Given the description of an element on the screen output the (x, y) to click on. 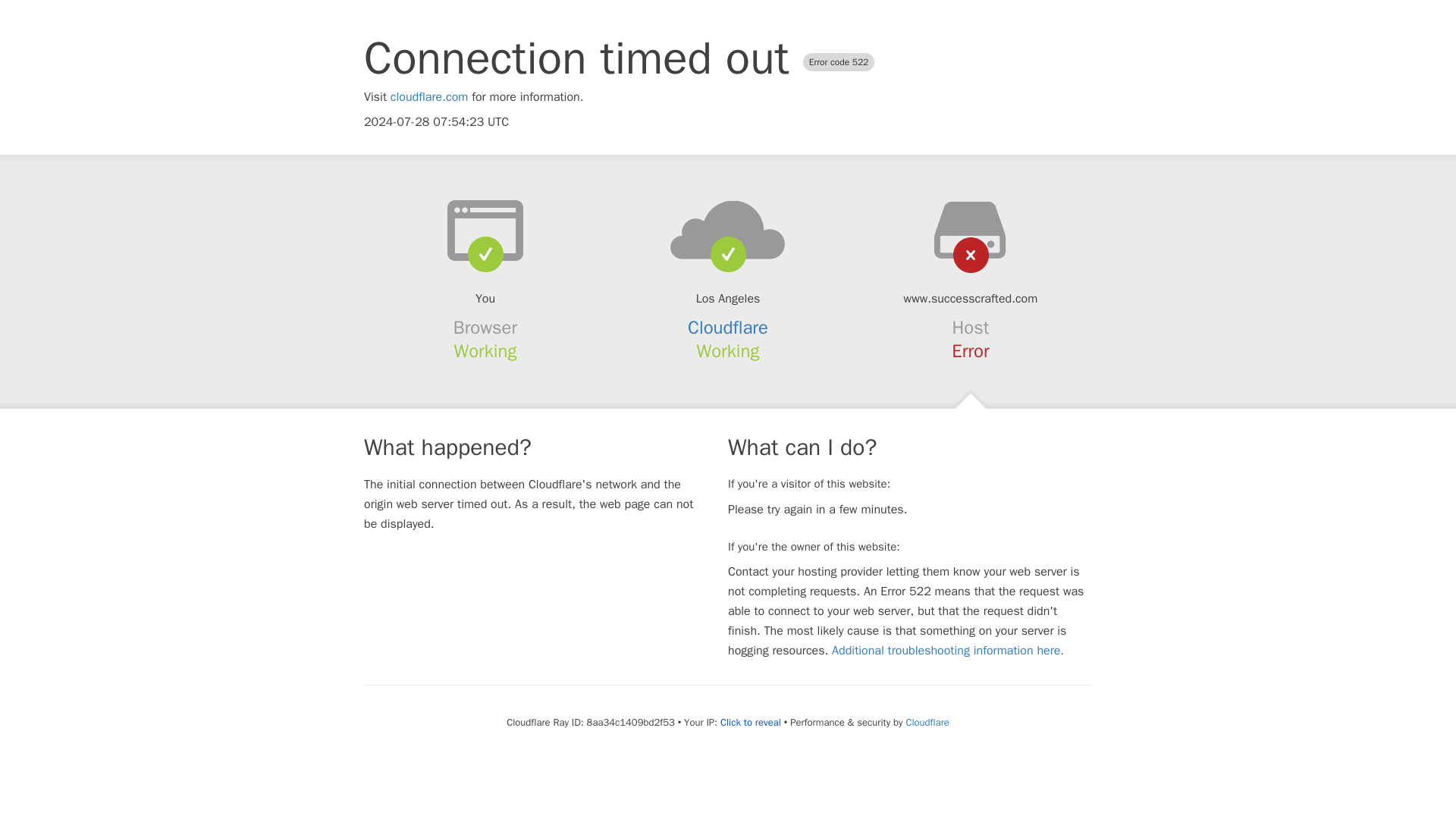
Cloudflare (927, 721)
cloudflare.com (429, 96)
Cloudflare (727, 327)
Click to reveal (750, 722)
Additional troubleshooting information here. (947, 650)
